Given the description of an element on the screen output the (x, y) to click on. 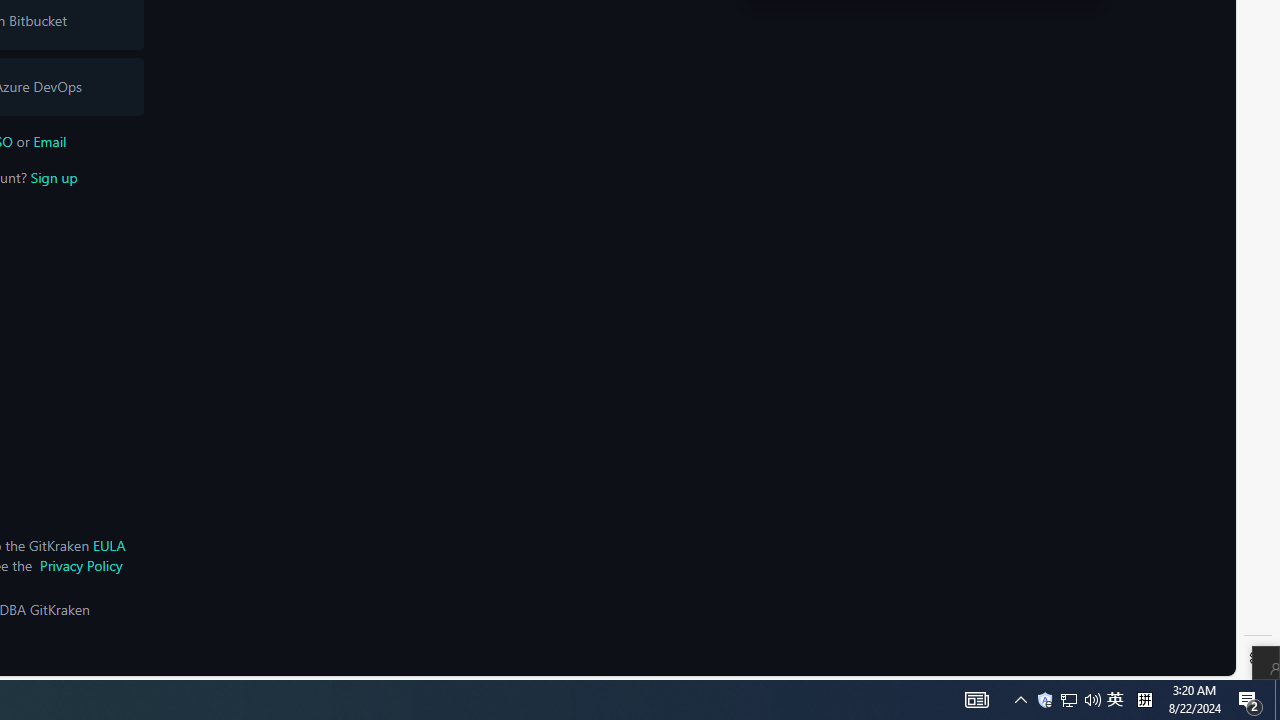
EULA (108, 545)
Privacy Policy (80, 565)
Q2790: 100% (1092, 699)
User Promoted Notification Area (1080, 699)
Tray Input Indicator - Chinese (Simplified, China) (1069, 699)
AutomationID: 4105 (1144, 699)
System Promoted Notification Area (976, 699)
Email (1044, 699)
Show desktop (49, 141)
Sign up (1277, 699)
Action Center, 2 new notifications (53, 177)
